Given the description of an element on the screen output the (x, y) to click on. 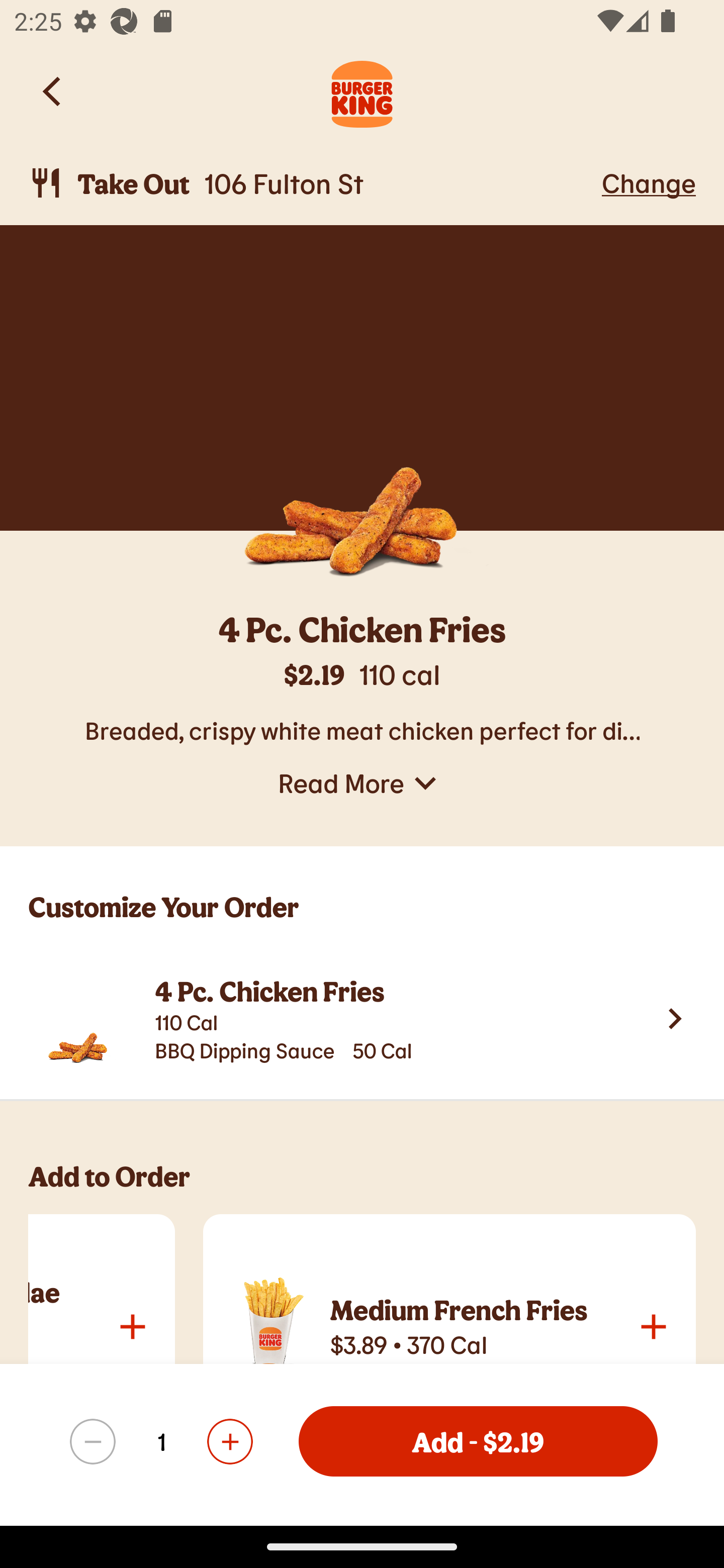
Burger King Logo. Navigate to Home (362, 91)
Back (52, 91)
Take Out, 106 Fulton St  Take Out 106 Fulton St (311, 183)
Change (648, 182)
4 Pc. Chicken Fries (361, 631)
$2.19 110 Cal $2.19 110 cal (361, 683)
Read More,  Read More  (361, 783)
Customize Your Order (362, 891)
Add to Order (376, 1185)
Quantity 1 of 4 Pc. Chicken Fries 1 (161, 1440)
decrement-4 Pc. Chicken Fries  (92, 1441)
increment-4 Pc. Chicken Fries  (229, 1441)
